Given the description of an element on the screen output the (x, y) to click on. 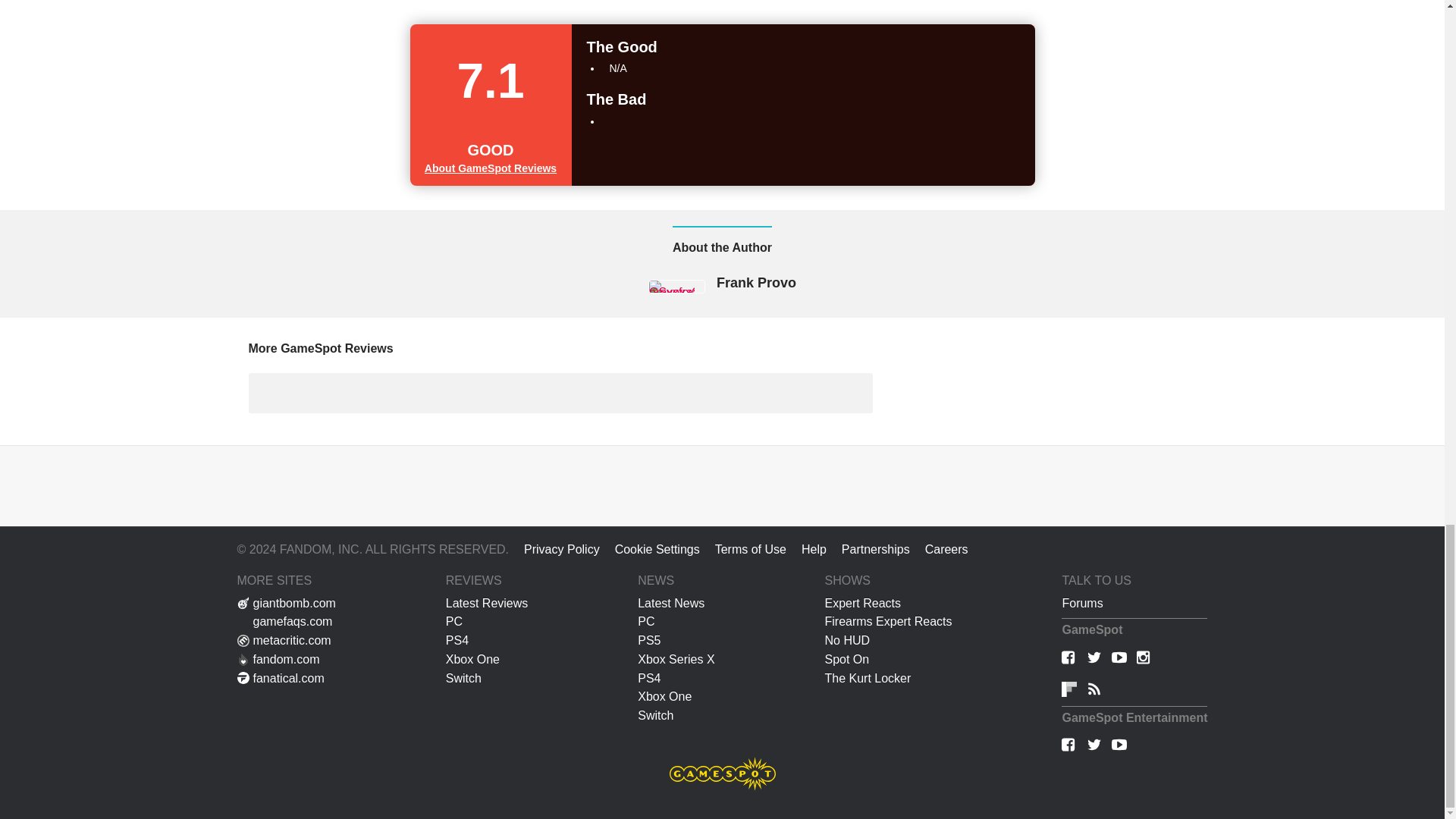
RSS Feeds (1094, 690)
